Given the description of an element on the screen output the (x, y) to click on. 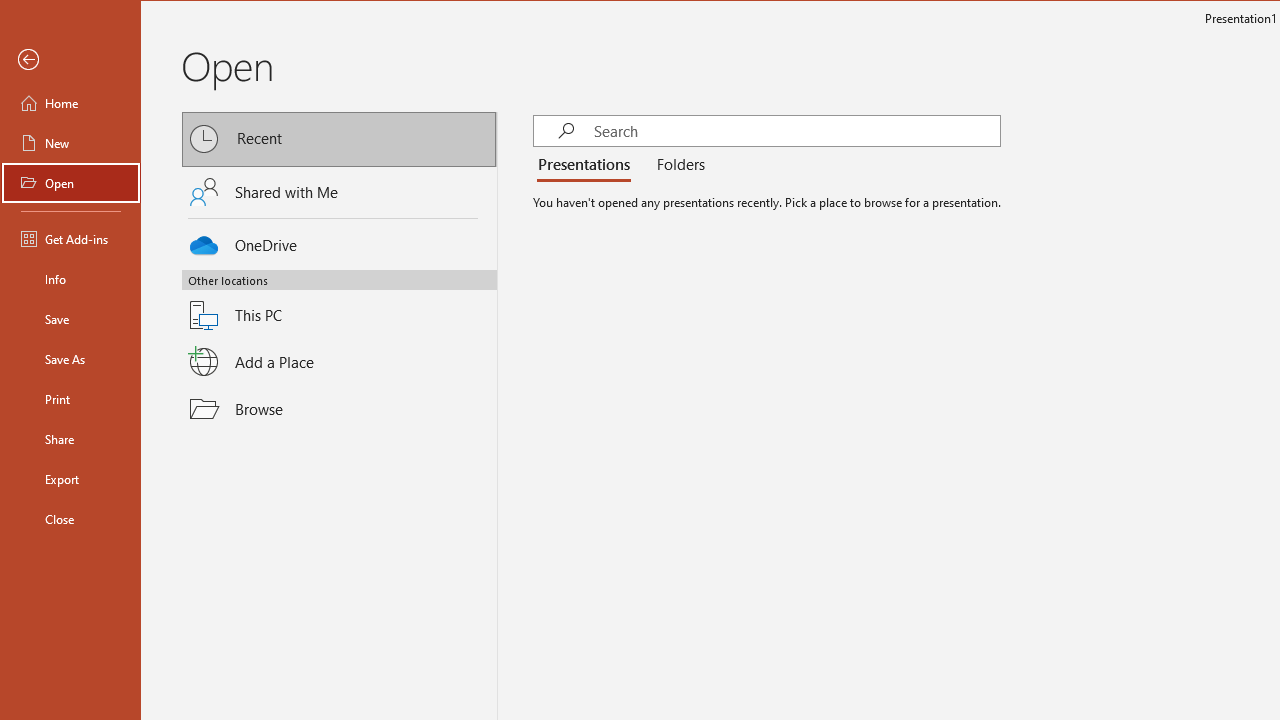
Print (70, 398)
Shared with Me (339, 191)
This PC (339, 303)
OneDrive (339, 241)
Folders (676, 165)
Browse (339, 409)
Save As (70, 358)
